Given the description of an element on the screen output the (x, y) to click on. 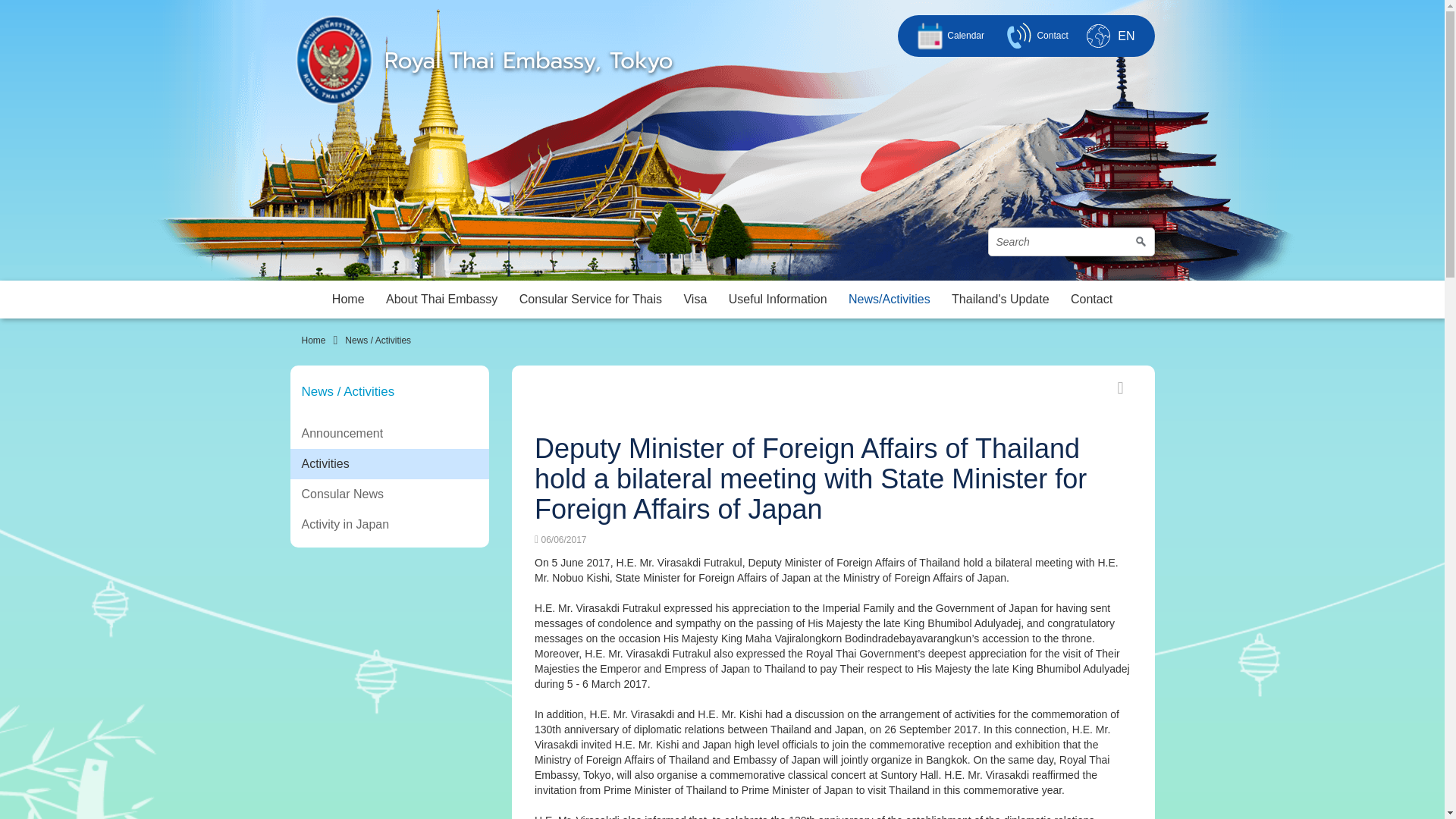
Home (348, 299)
Home (313, 340)
About Thai Embassy (441, 299)
Search (1070, 241)
Useful Information (777, 299)
Calendar (948, 35)
Thailand's Update (1000, 299)
EN (1125, 35)
Visa (695, 299)
Contact (1035, 35)
Search (1070, 241)
Consular Service for Thais (591, 299)
